Given the description of an element on the screen output the (x, y) to click on. 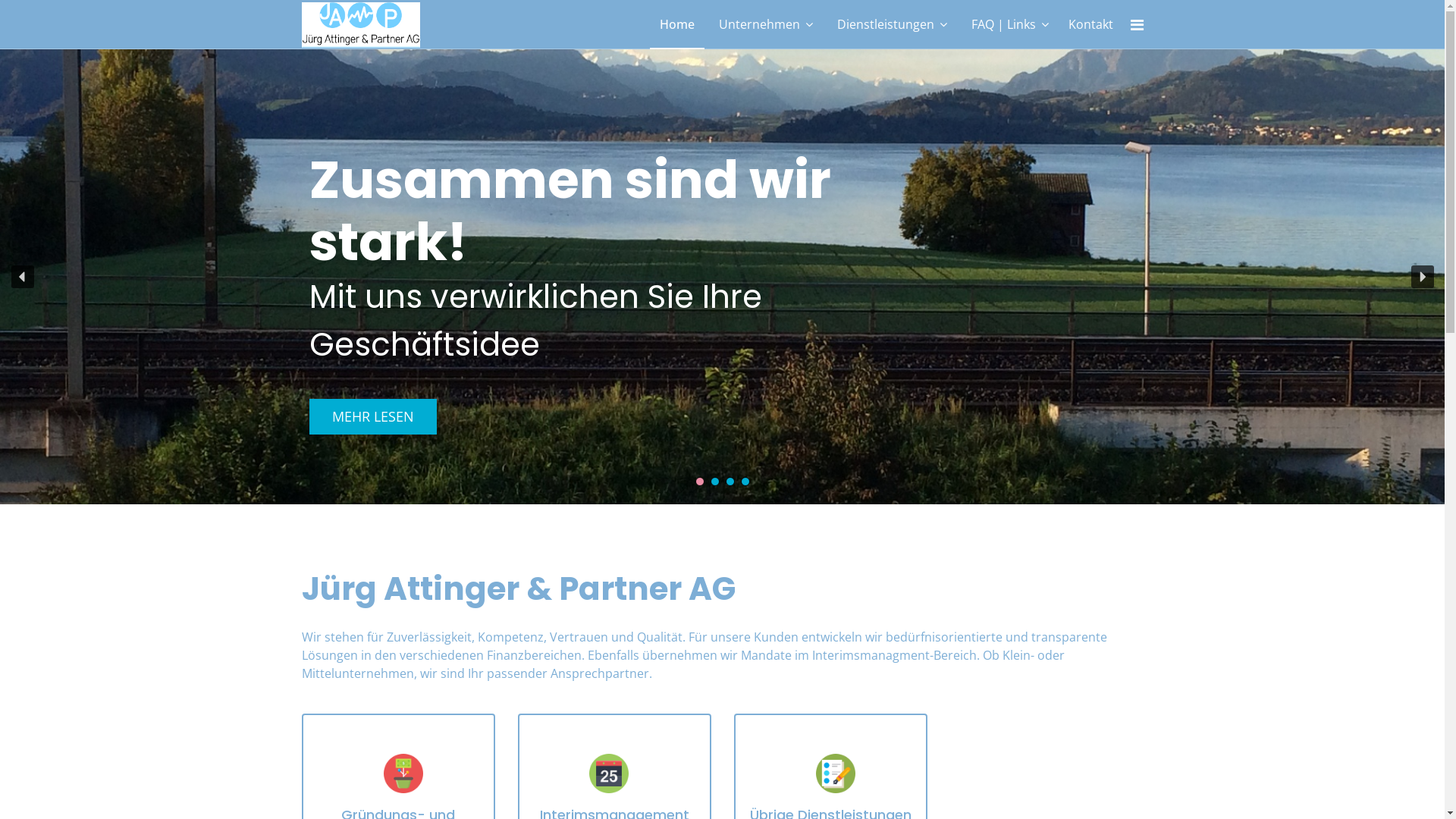
Kontakt Element type: text (1090, 24)
Home Element type: text (676, 24)
FAQ | Links Element type: text (1009, 24)
Dienstleistungen Element type: text (891, 24)
Unternehmen Element type: text (765, 24)
MEHR LESEN Element type: text (372, 416)
Navigation Element type: hover (1135, 24)
